Given the description of an element on the screen output the (x, y) to click on. 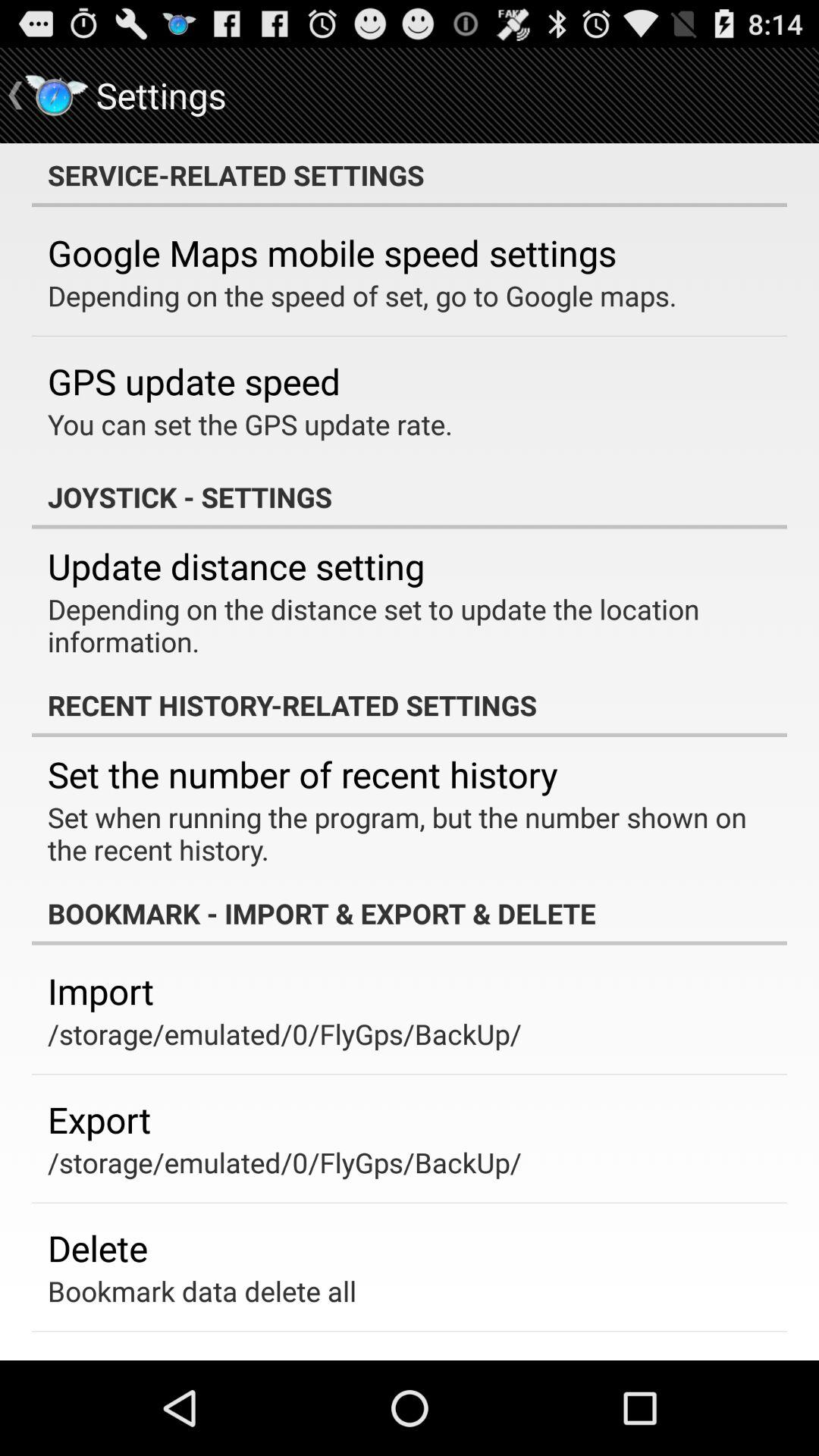
tap the app above the update distance setting item (409, 496)
